Given the description of an element on the screen output the (x, y) to click on. 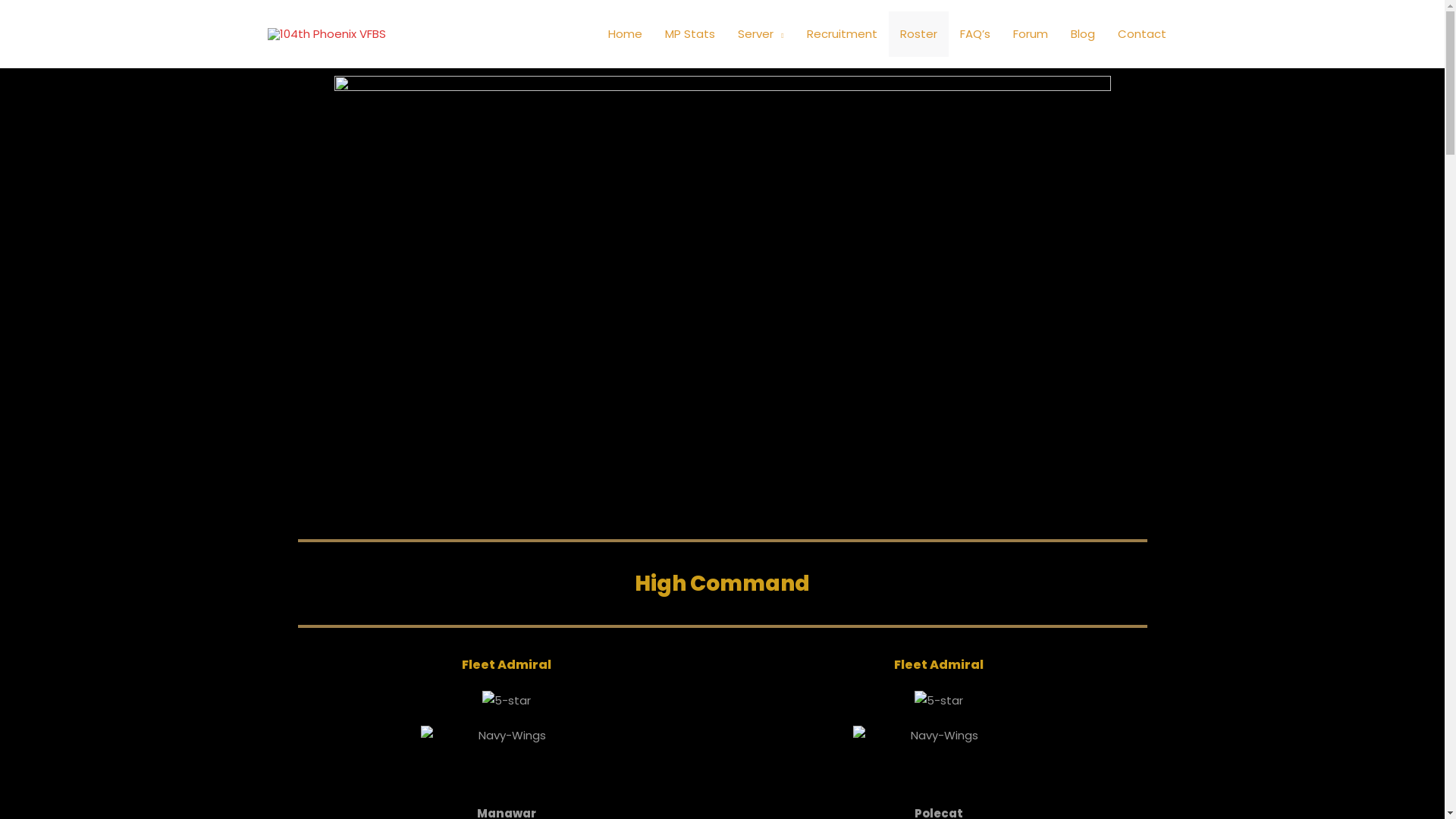
Contact Element type: text (1140, 33)
Blog Element type: text (1081, 33)
Home Element type: text (624, 33)
Server Element type: text (760, 33)
5-star Element type: hover (938, 700)
Roster Element type: text (918, 33)
Forum Element type: text (1029, 33)
MP Stats Element type: text (689, 33)
Recruitment Element type: text (841, 33)
5-star Element type: hover (506, 700)
